Given the description of an element on the screen output the (x, y) to click on. 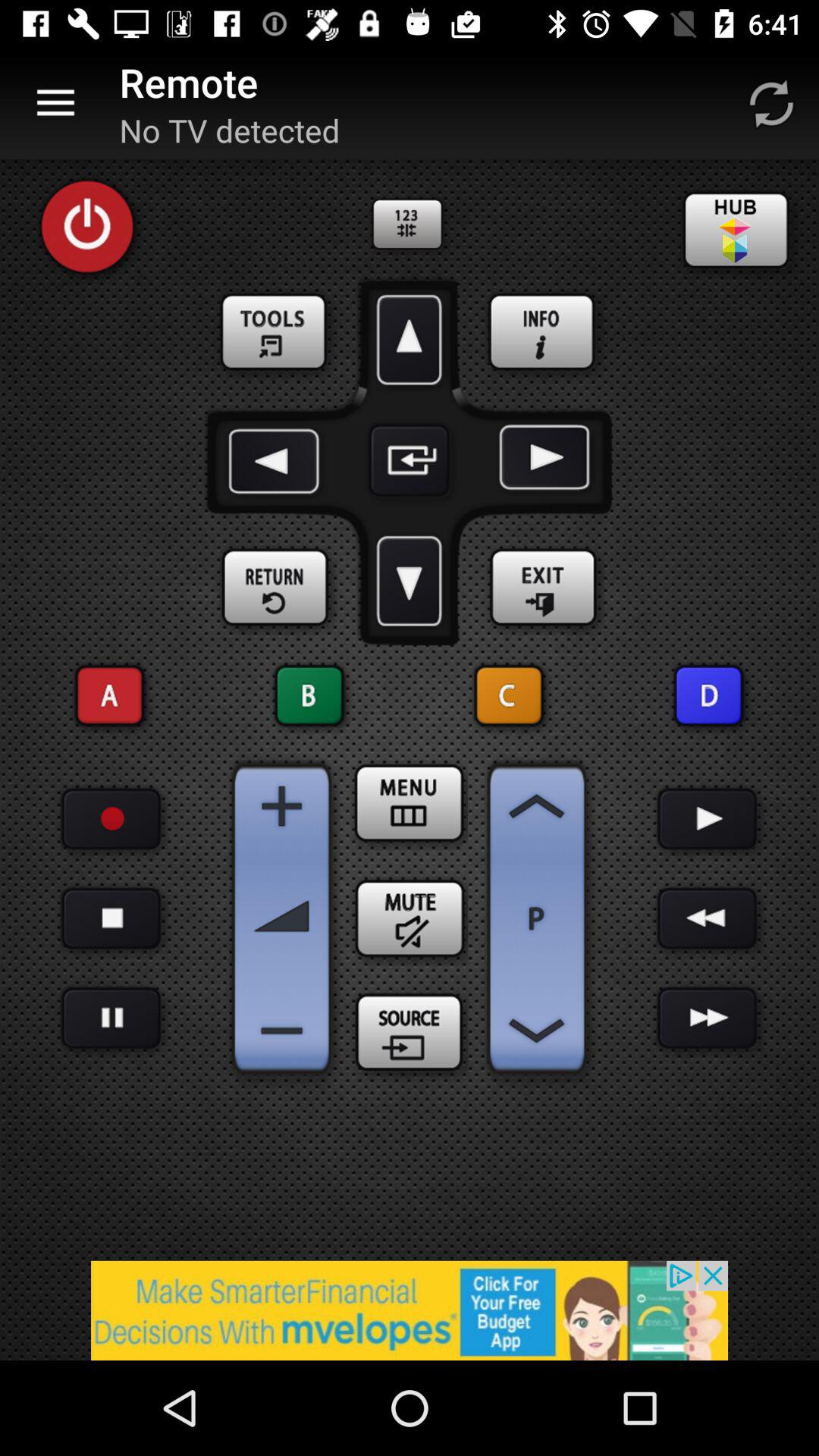
pause option (111, 918)
